Given the description of an element on the screen output the (x, y) to click on. 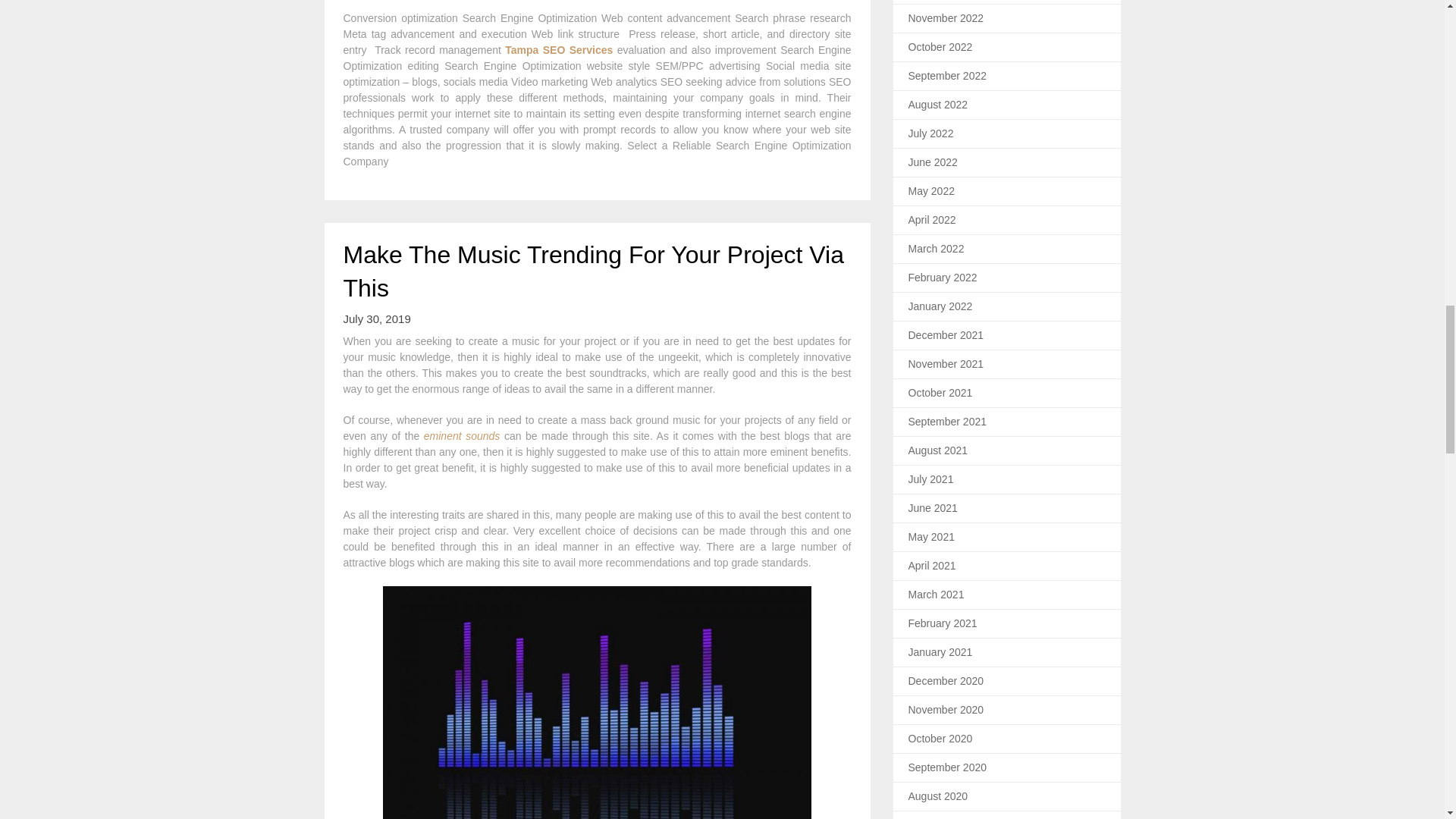
Tampa SEO Services (558, 50)
Make The Music Trending For Your Project Via This (592, 271)
eminent sounds (461, 435)
Make The Music Trending For Your Project Via This (592, 271)
